Given the description of an element on the screen output the (x, y) to click on. 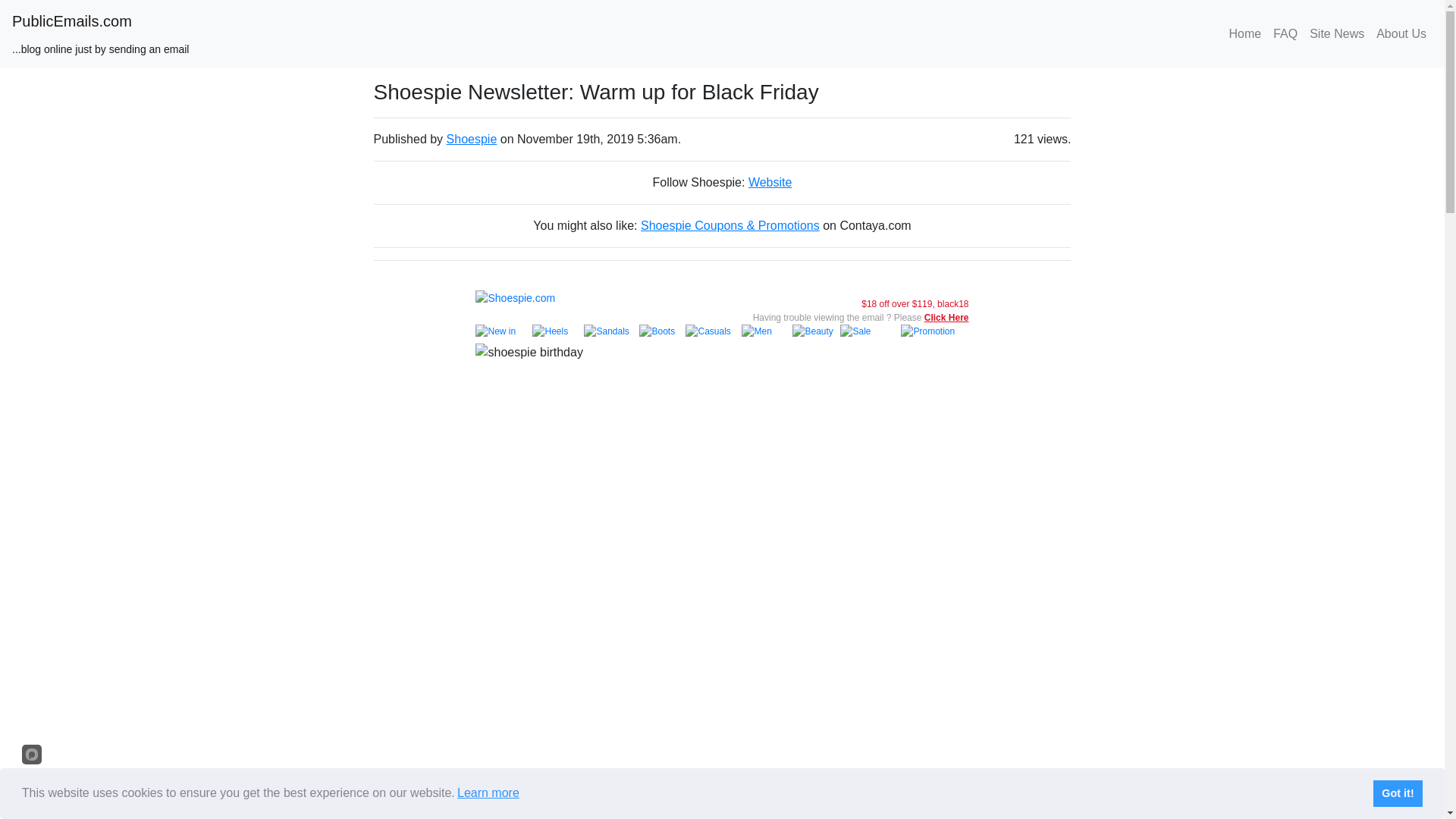
Sale (870, 333)
Click Here (946, 317)
Home (1244, 33)
About Us (1401, 33)
Shoespie (471, 138)
Flash Sale (599, 803)
Heels (557, 333)
Boots (662, 333)
